Given the description of an element on the screen output the (x, y) to click on. 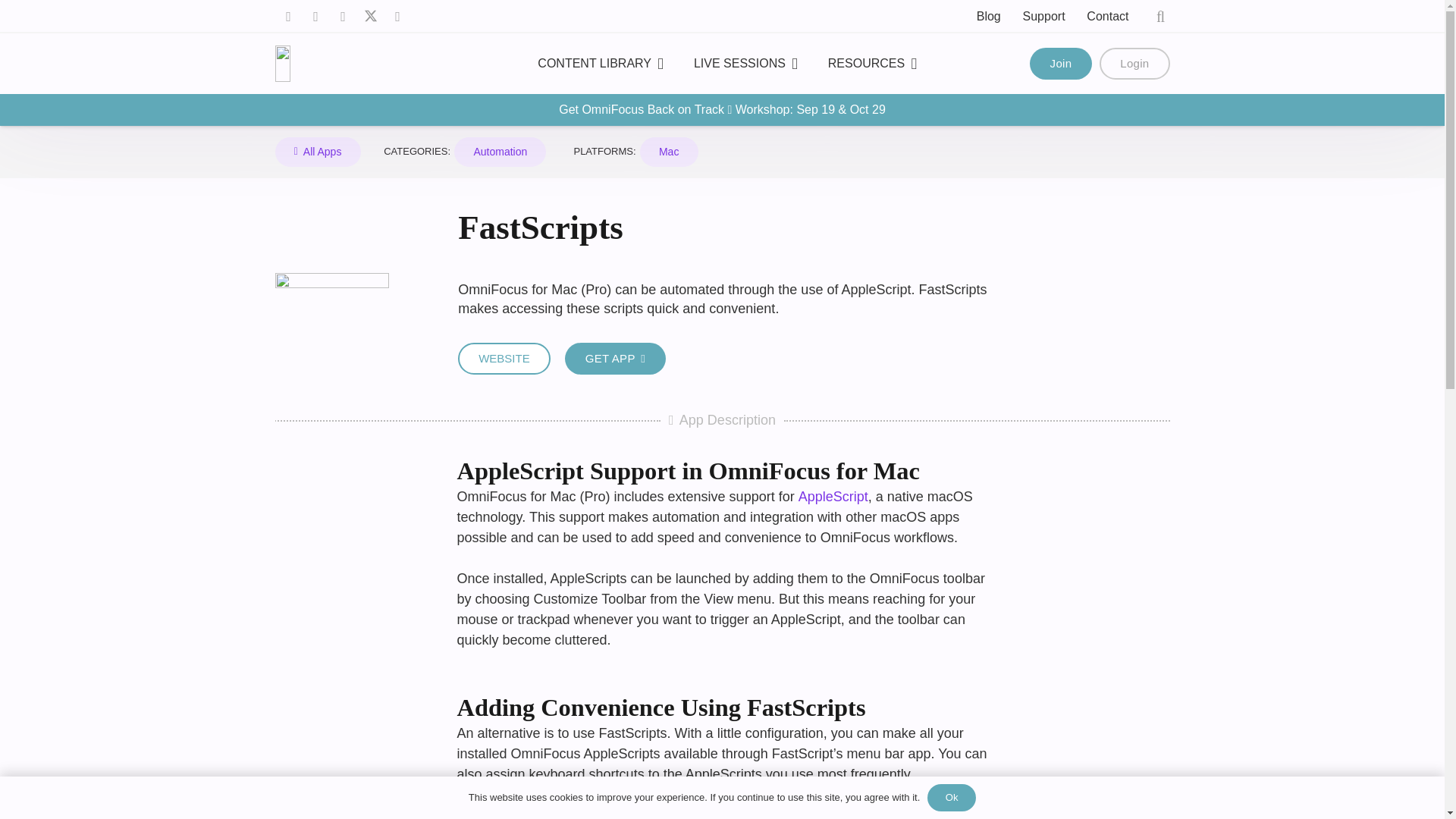
All Apps (317, 152)
CONTENT LIBRARY (600, 63)
Automation (500, 152)
Mastodon (342, 16)
Facebook (288, 16)
WEBSITE (504, 358)
Login (1134, 63)
LIVE SESSIONS (745, 63)
fastscripts-mac-icon (331, 329)
RESOURCES (871, 63)
